Given the description of an element on the screen output the (x, y) to click on. 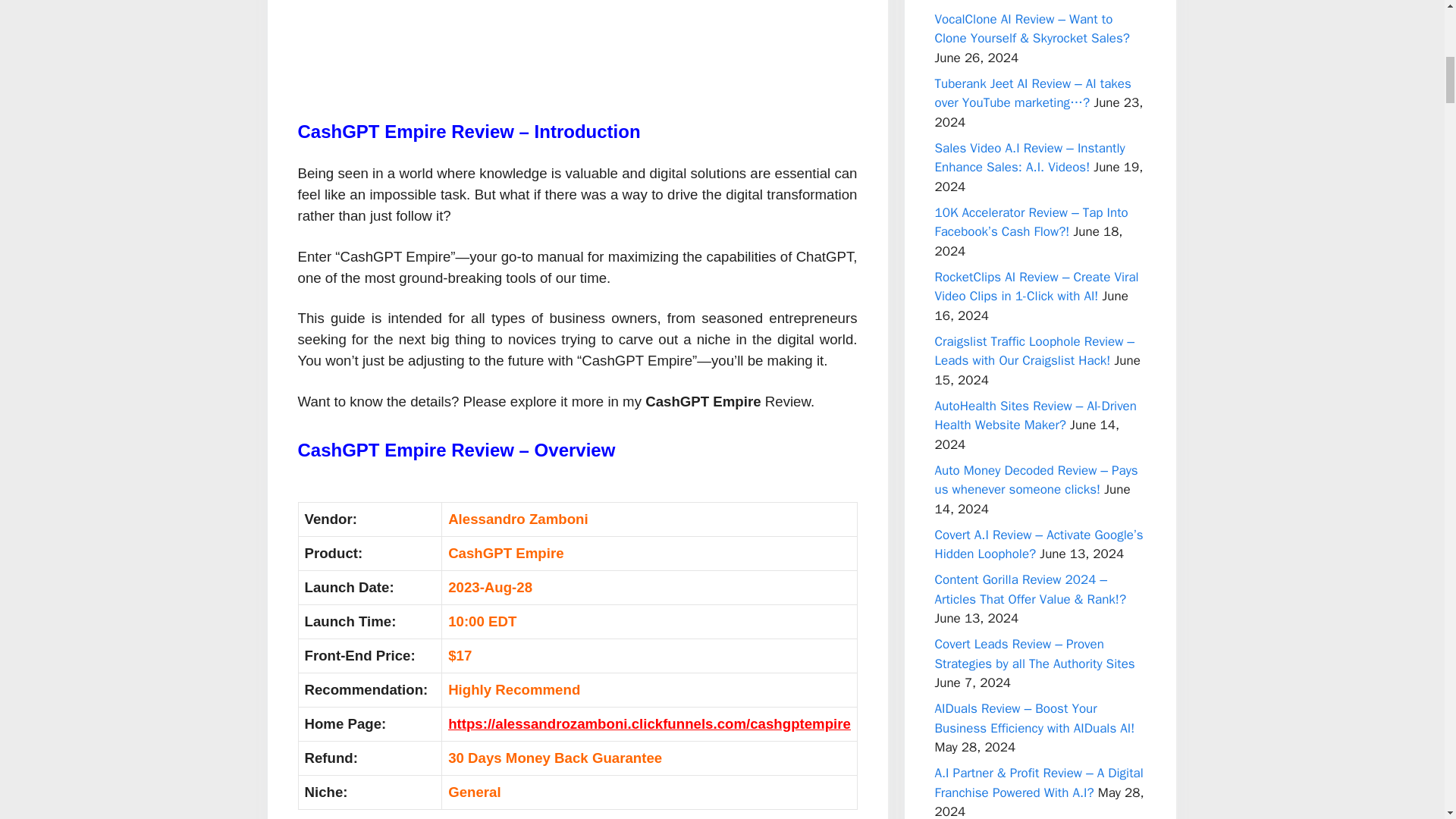
source: imgur.com (577, 47)
